Given the description of an element on the screen output the (x, y) to click on. 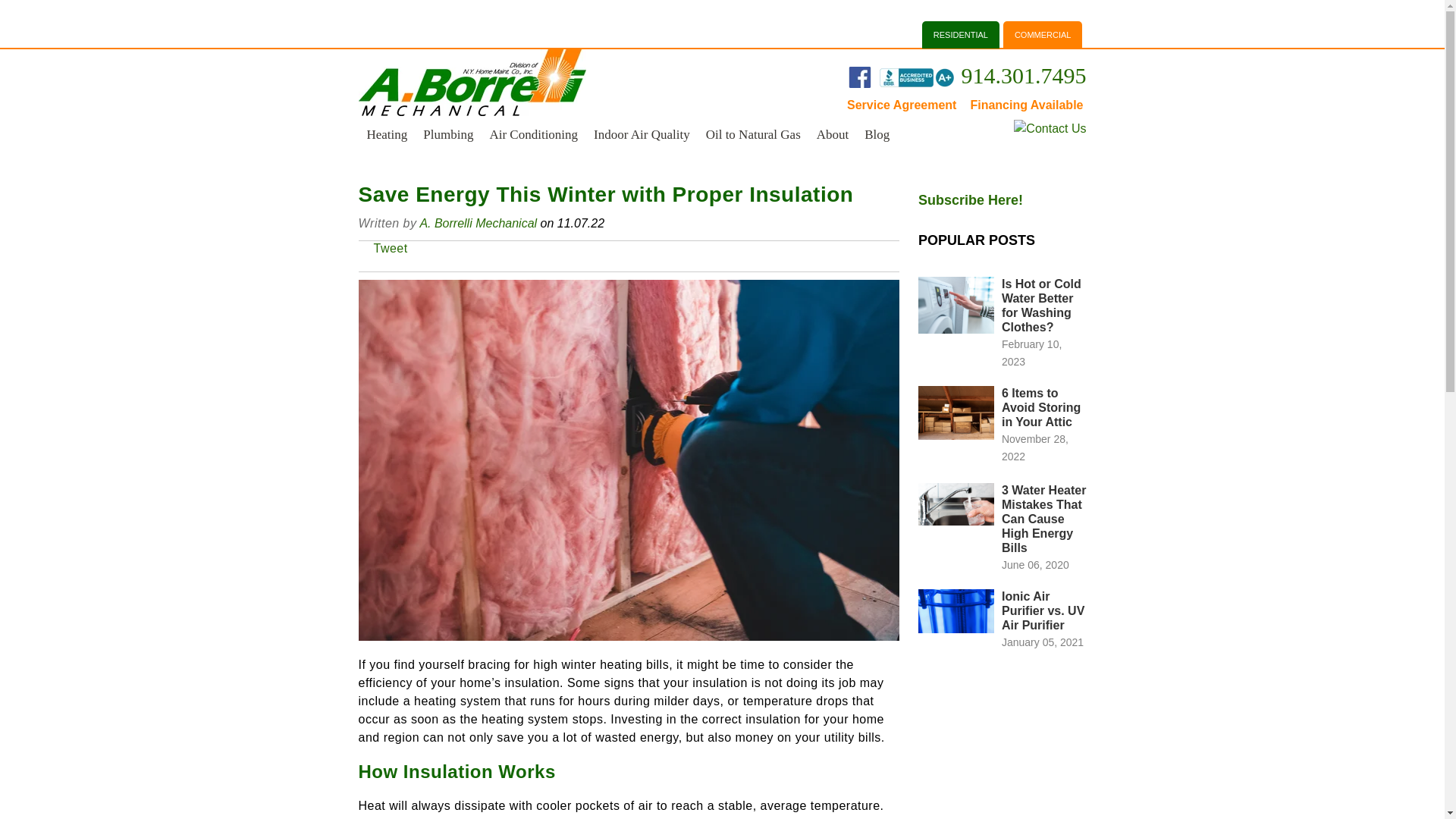
Financing Available (1026, 104)
Air Conditioning (532, 134)
About (832, 134)
914.301.7495 (1023, 75)
Blog (876, 134)
Oil to Natural Gas (752, 134)
Heating (386, 134)
COMMERCIAL (1043, 34)
Service Agreement (908, 104)
Plumbing (447, 134)
Indoor Air Quality (641, 134)
RESIDENTIAL (959, 34)
